Given the description of an element on the screen output the (x, y) to click on. 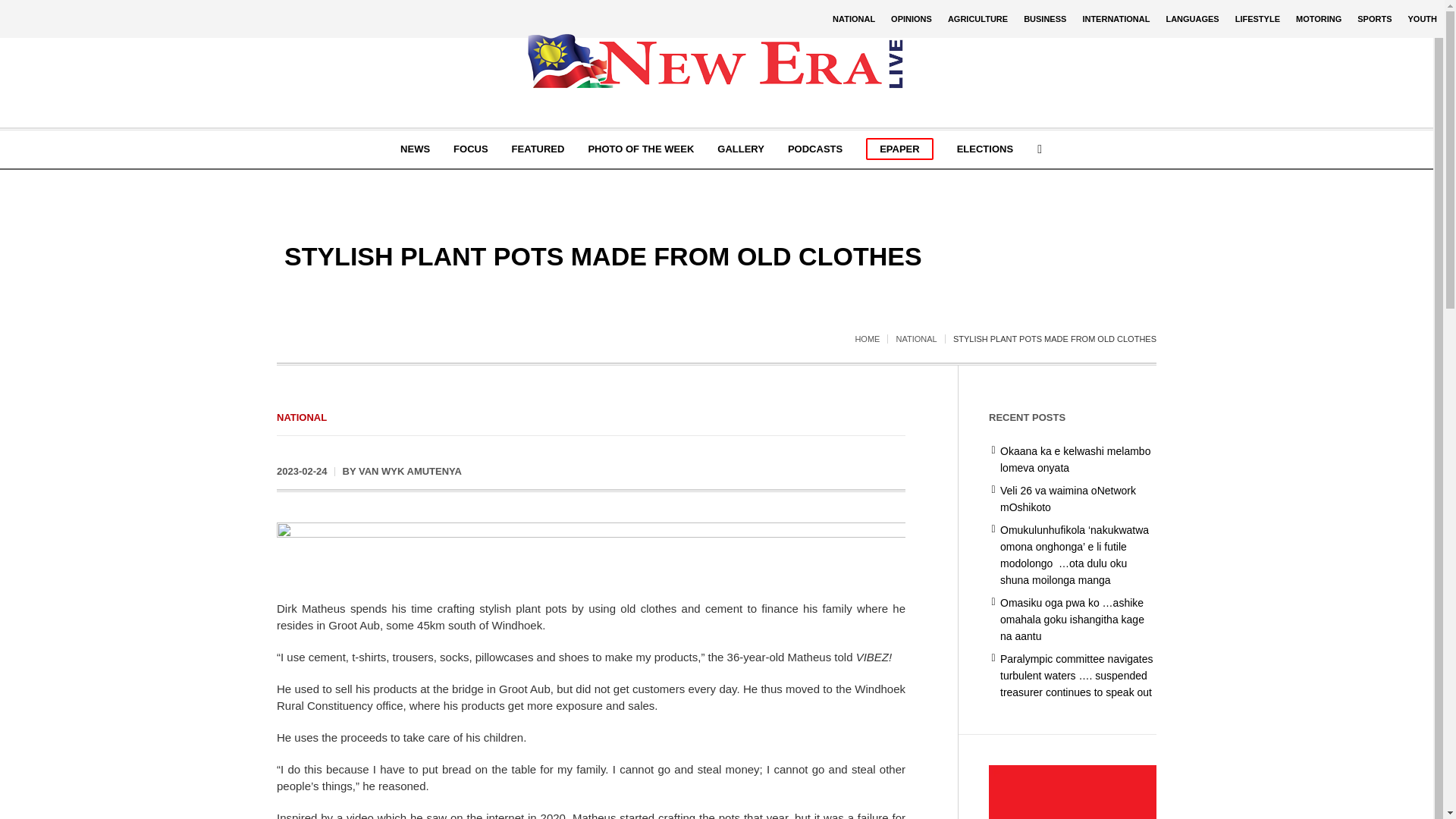
OPINIONS (911, 18)
2023-02-24 (301, 471)
AGRICULTURE (977, 18)
SPORTS (1374, 18)
NEWS (414, 149)
LIFESTYLE (1257, 18)
LANGUAGES (1191, 18)
BUSINESS (1045, 18)
FOCUS (470, 149)
MOTORING (1318, 18)
NATIONAL (853, 18)
Posts by Van Wyk Amutenya (409, 471)
INTERNATIONAL (1115, 18)
